Given the description of an element on the screen output the (x, y) to click on. 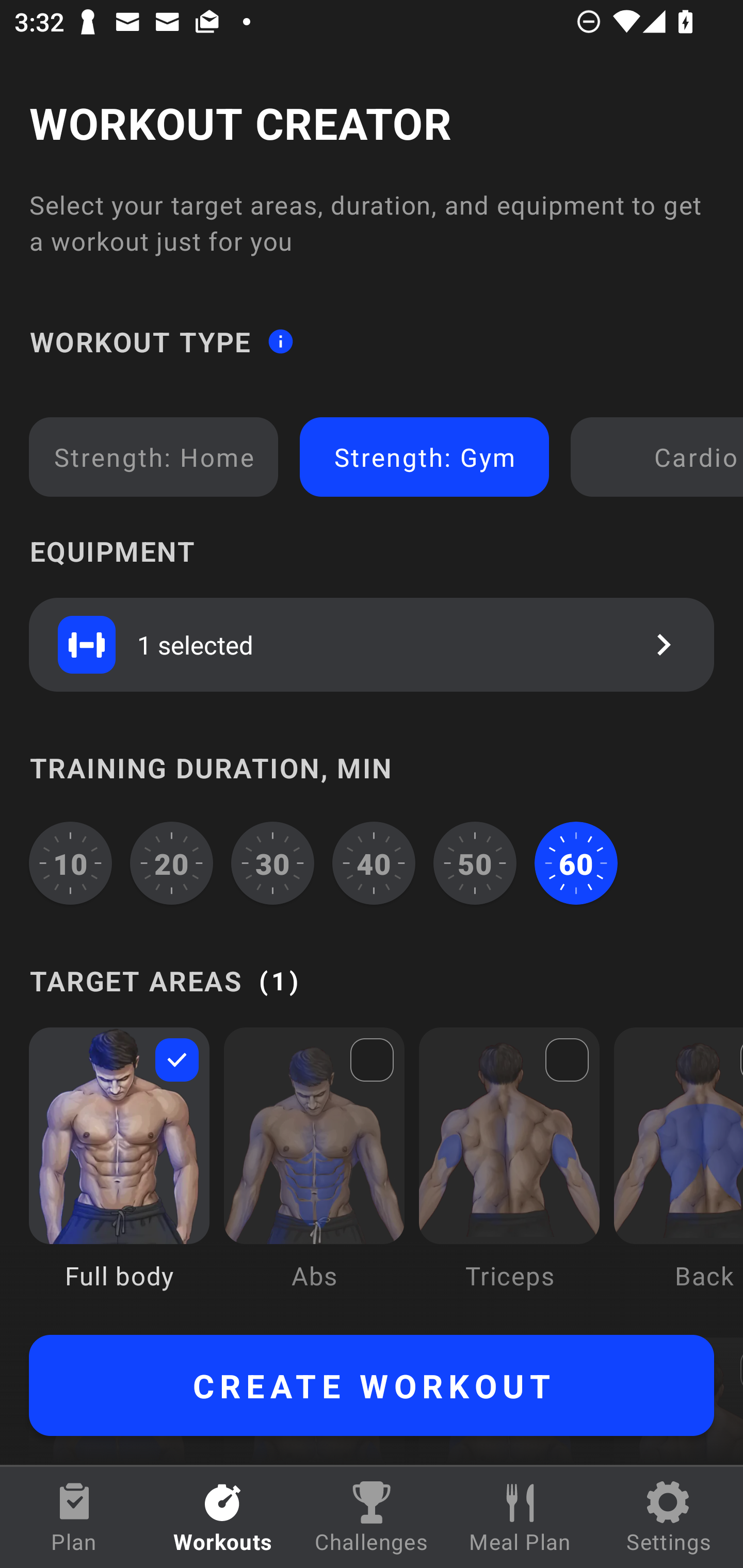
Workout type information button (280, 340)
Strength: Home (153, 457)
Cardio (660, 457)
1 selected (371, 644)
10 (70, 863)
20 (171, 863)
30 (272, 863)
40 (373, 863)
50 (474, 863)
60 (575, 863)
Abs (313, 1172)
Triceps (509, 1172)
Back (678, 1172)
CREATE WORKOUT (371, 1385)
 Plan  (74, 1517)
 Challenges  (371, 1517)
 Meal Plan  (519, 1517)
 Settings  (668, 1517)
